Given the description of an element on the screen output the (x, y) to click on. 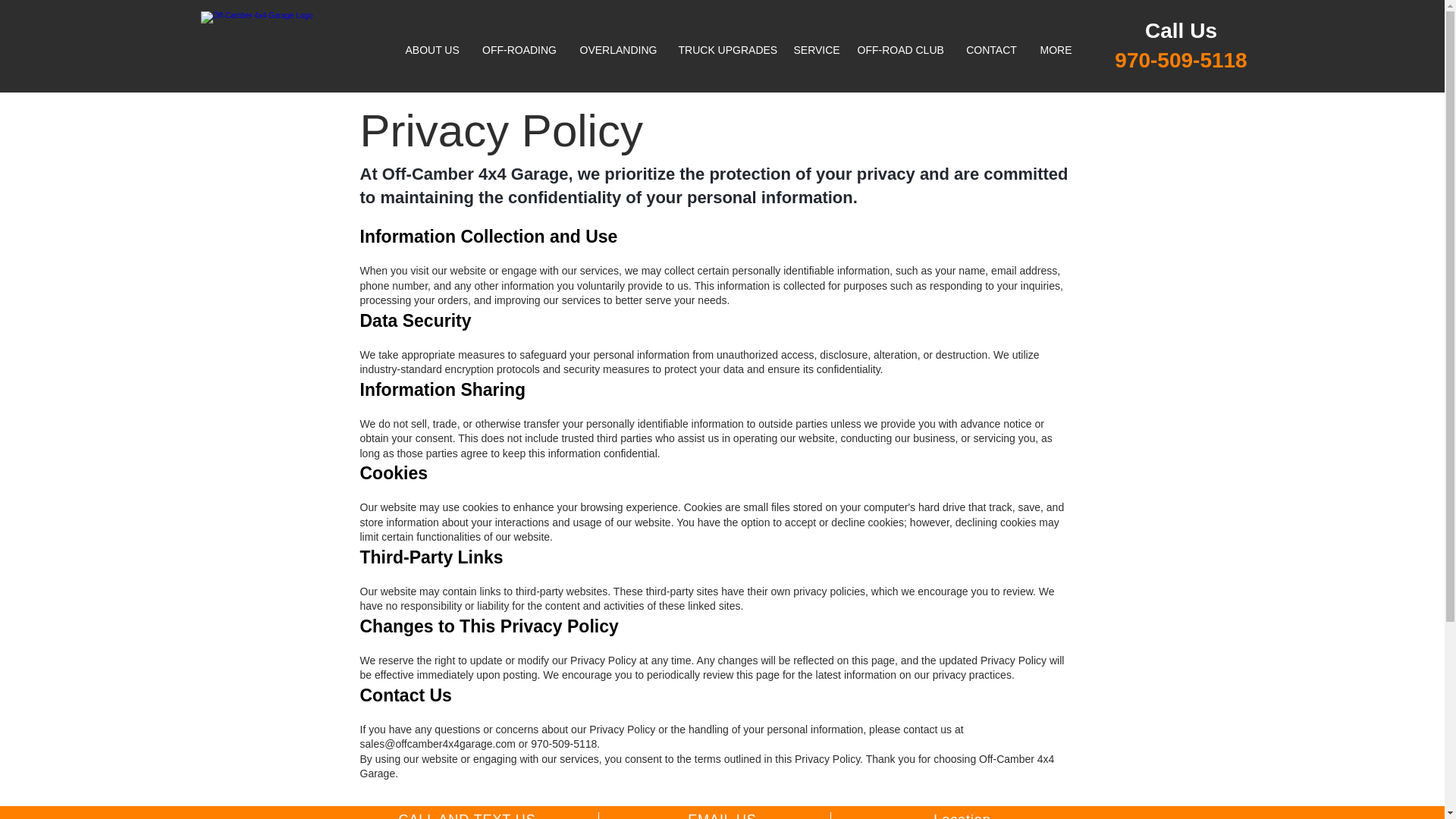
TRUCK UPGRADES (724, 49)
Hat Logo.png (294, 50)
CONTACT (990, 49)
OVERLANDING (617, 49)
SERVICE (814, 49)
OFF-ROAD CLUB (900, 49)
